Given the description of an element on the screen output the (x, y) to click on. 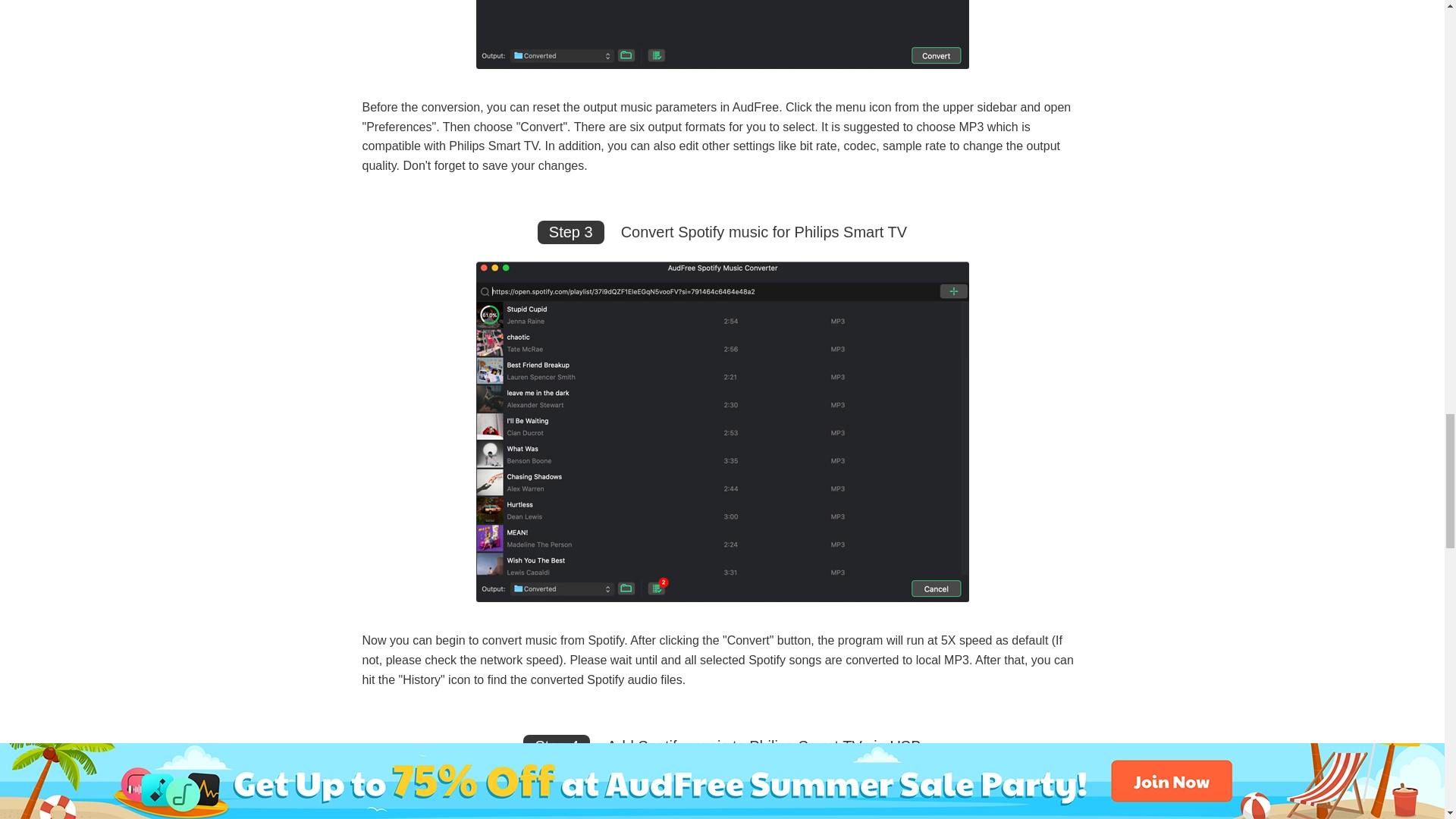
copy the local Spotify songs to a USB drive (556, 788)
